Given the description of an element on the screen output the (x, y) to click on. 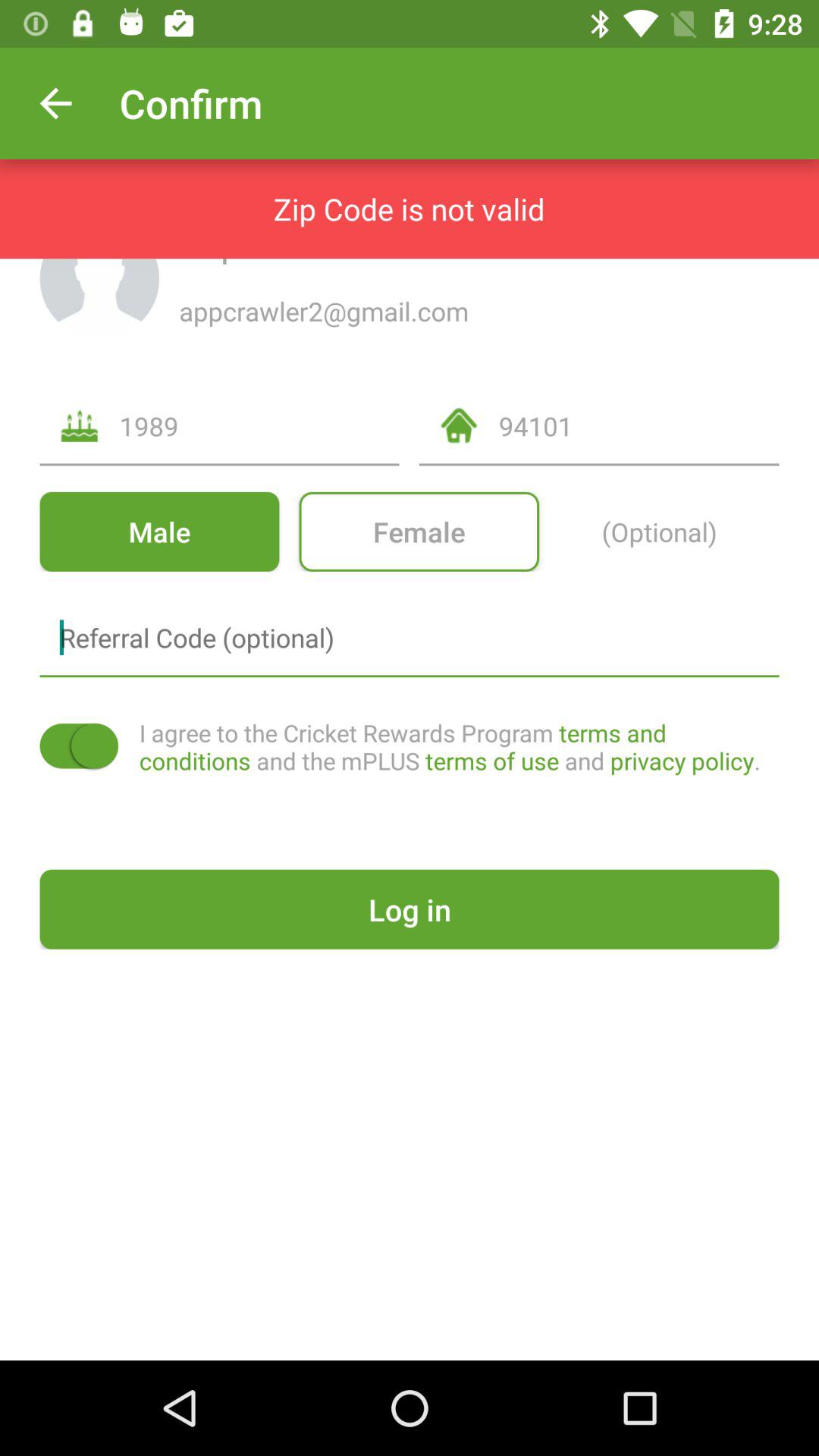
press icon below 1989 (419, 531)
